Given the description of an element on the screen output the (x, y) to click on. 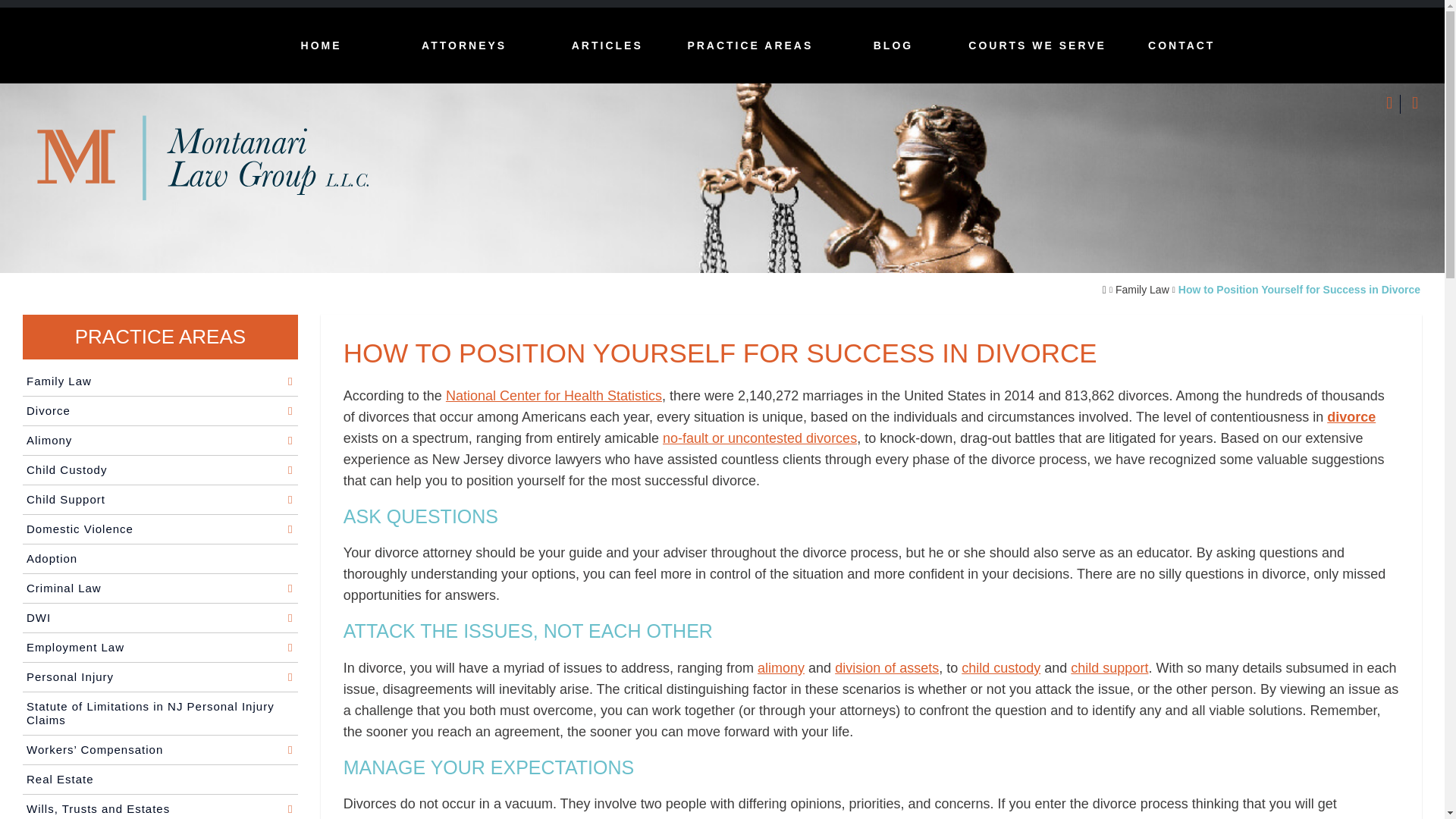
ATTORNEYS (464, 45)
ARTICLES (606, 45)
How to Position Yourself for Success in Divorce (1299, 289)
PRACTICE AREAS (750, 45)
HOME (320, 45)
